Given the description of an element on the screen output the (x, y) to click on. 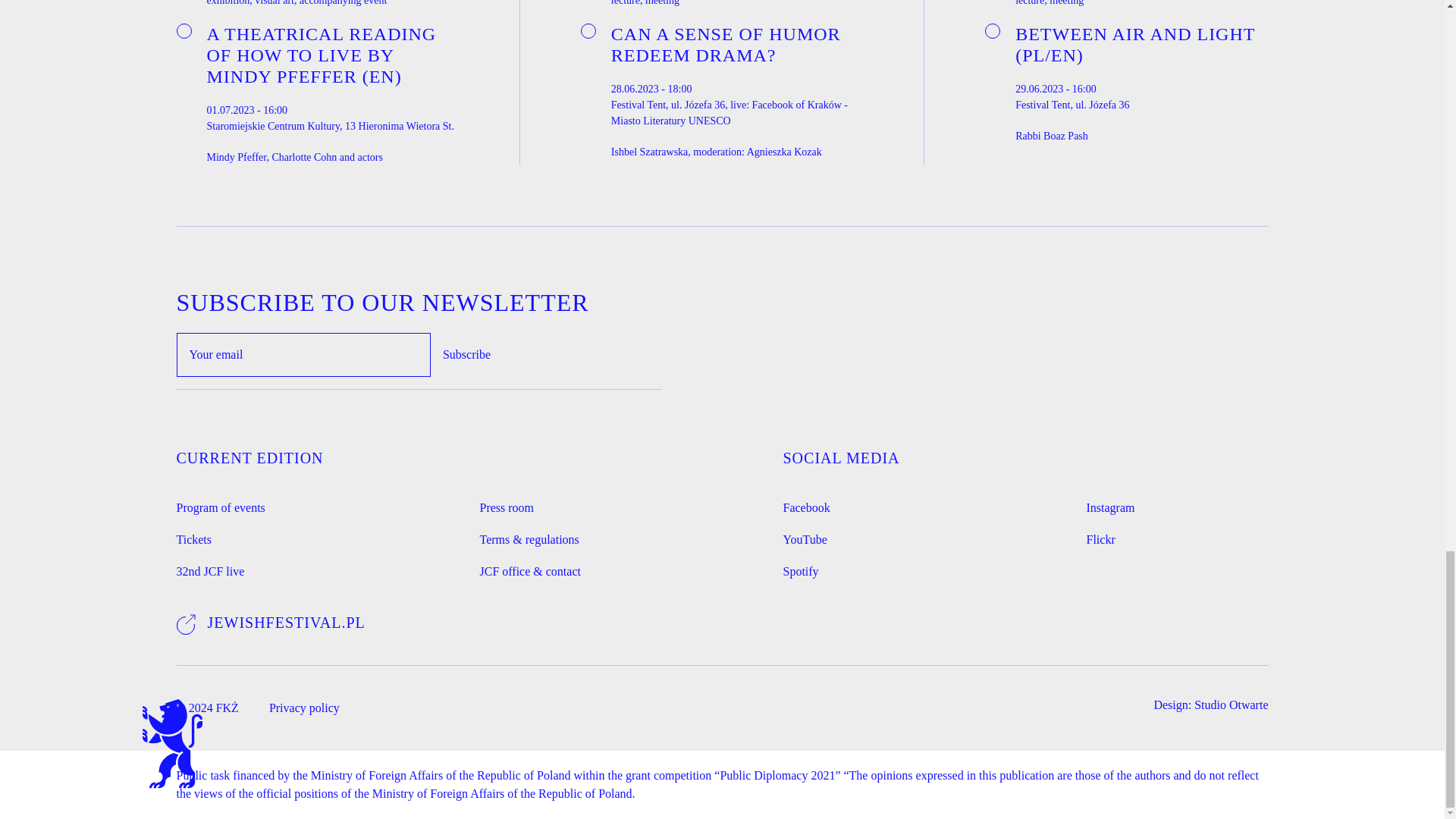
Facebook (806, 508)
JEWISHFESTIVAL.PL (270, 622)
32nd JCF live (210, 571)
Studio Otwarte (1230, 704)
Program of events (220, 508)
YouTube (805, 539)
Tickets (193, 539)
Press room (506, 508)
Subscribe (466, 354)
Privacy policy (304, 708)
Instagram (1110, 508)
Flickr (1100, 539)
Subscribe (466, 354)
Spotify (800, 571)
